Given the description of an element on the screen output the (x, y) to click on. 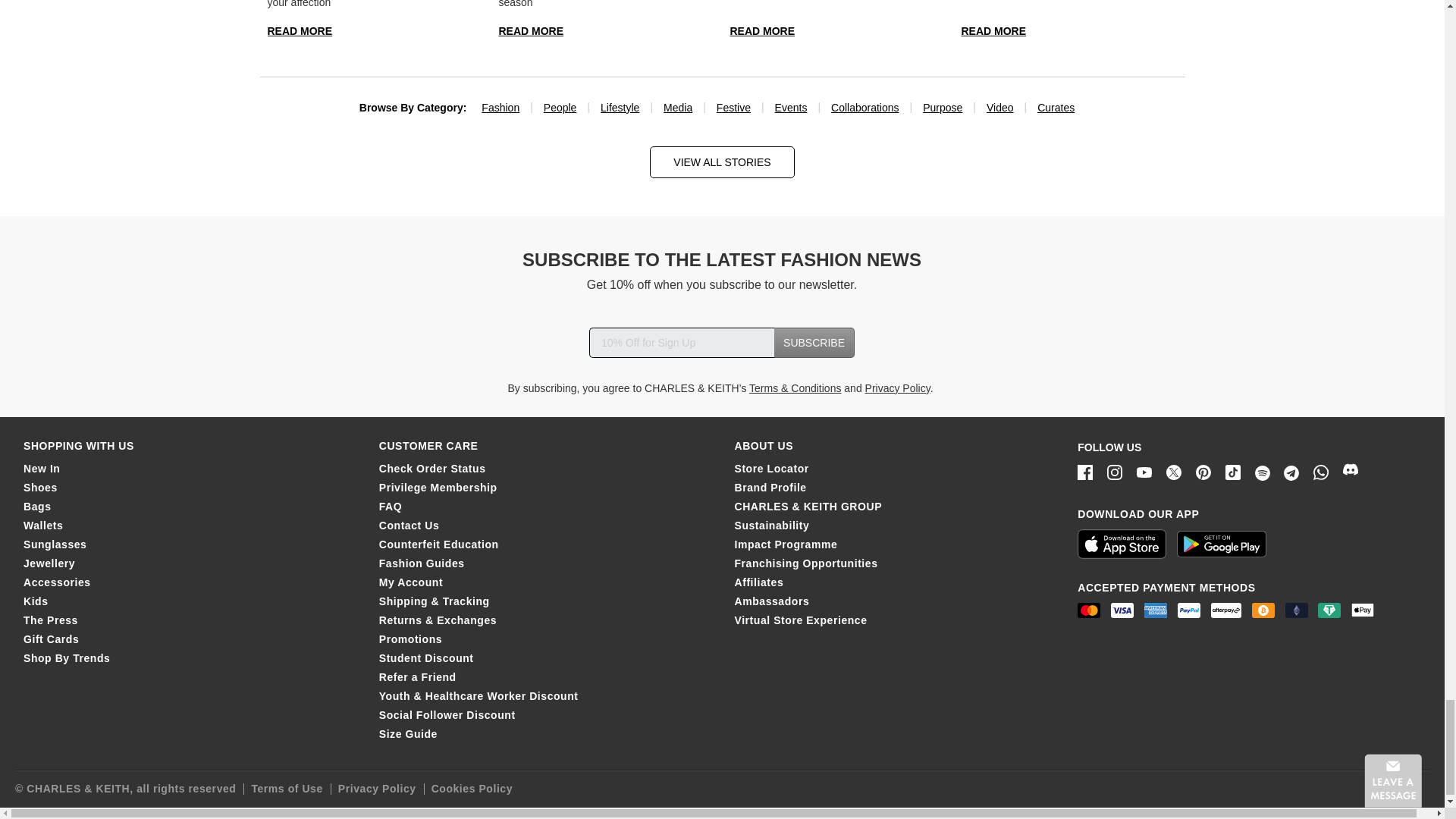
New In (41, 468)
Bags (36, 506)
Sunglasses (54, 544)
Shoes (40, 487)
Accessories (56, 582)
Jewellery (49, 563)
Wallets (42, 525)
